Given the description of an element on the screen output the (x, y) to click on. 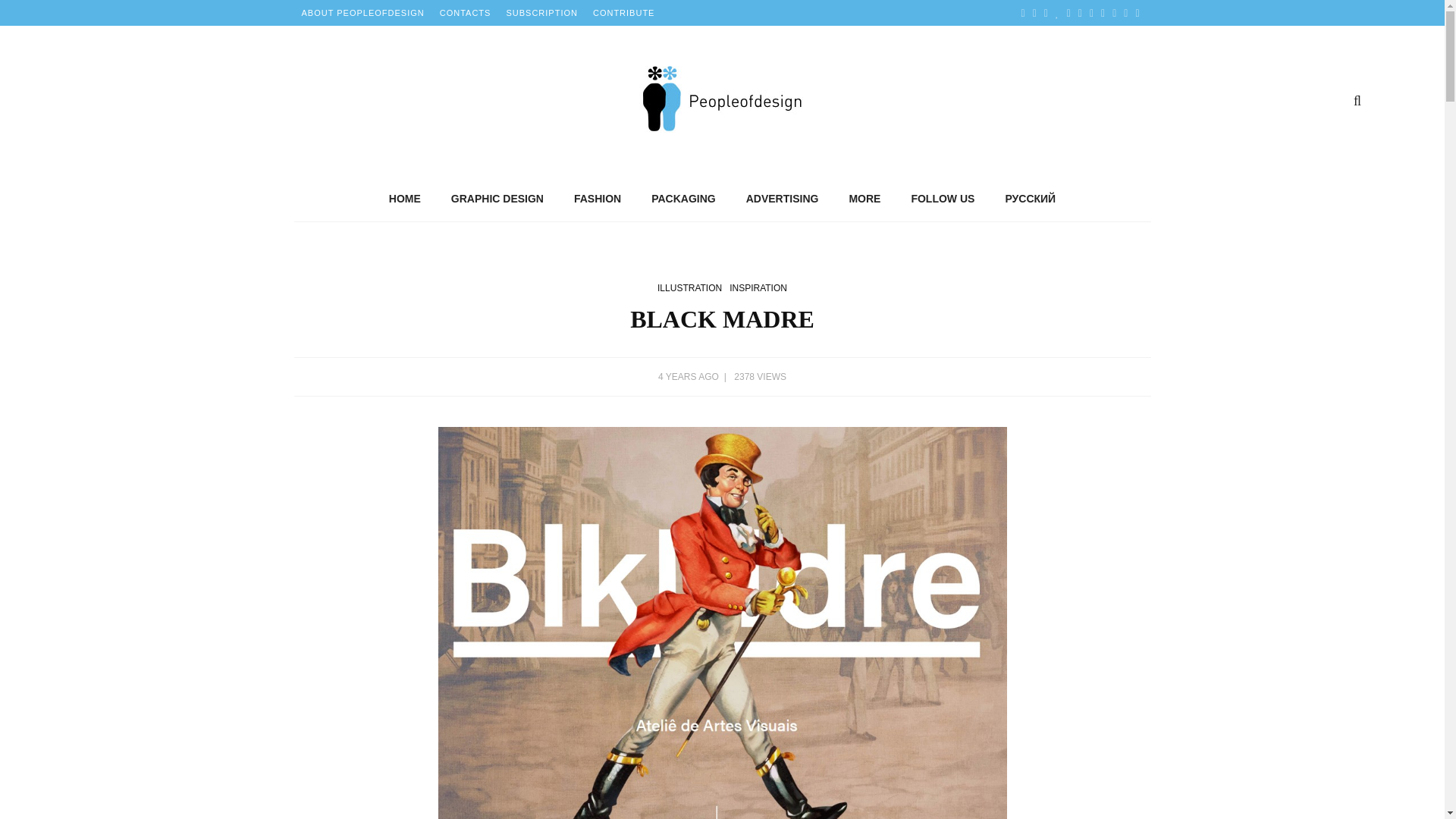
Pinterest (1046, 12)
Bloglovin (1056, 12)
Facebook (1023, 12)
ABOUT PEOPLEOFDESIGN (363, 12)
CONTRIBUTE (623, 12)
CONTACTS (465, 12)
SUBSCRIPTION (541, 12)
Instagram (1068, 12)
Twitter (1035, 12)
